Given the description of an element on the screen output the (x, y) to click on. 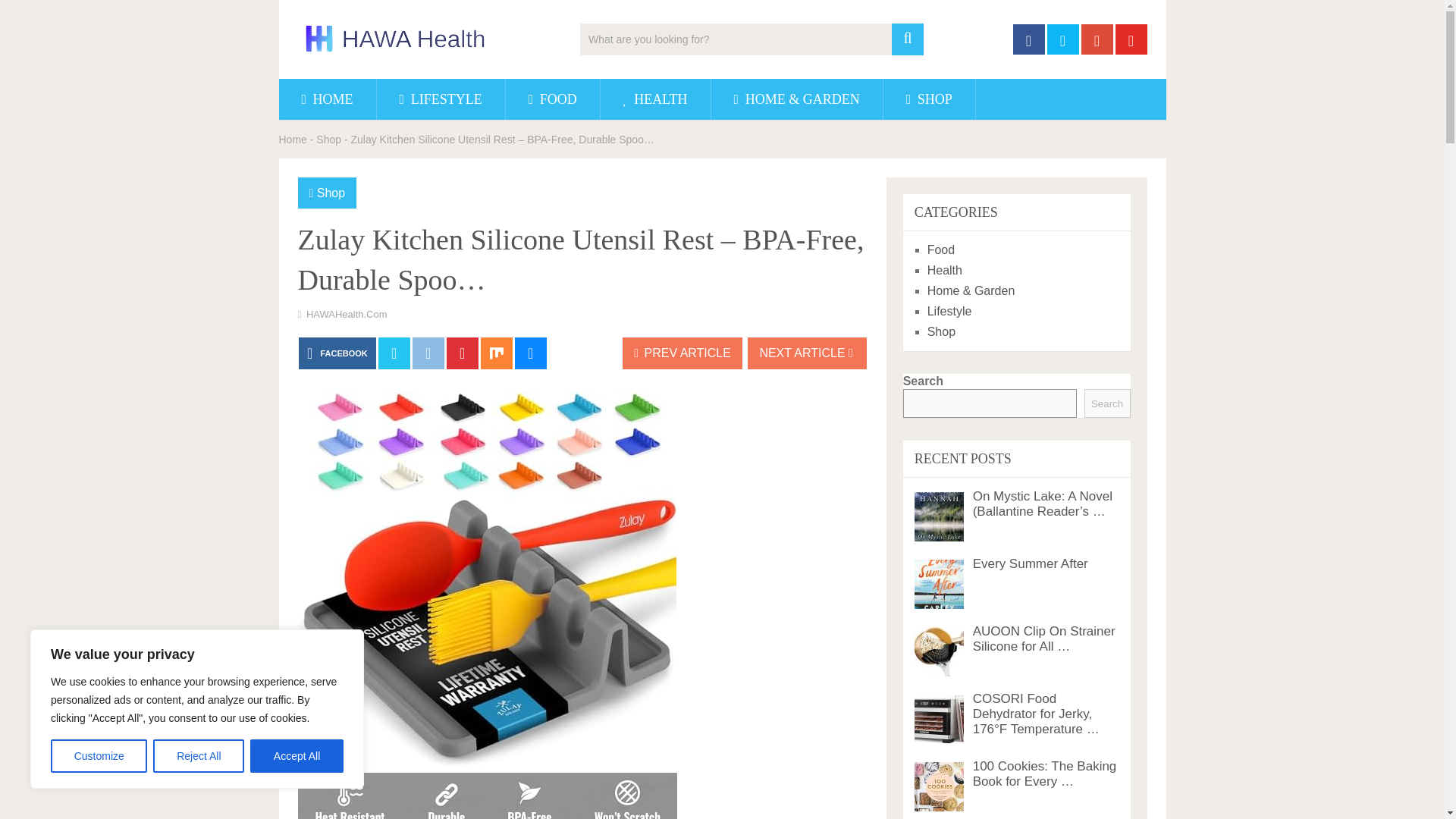
NEXT ARTICLE (807, 353)
Posts by HAWAHealth.com (346, 314)
PREV ARTICLE (682, 353)
View all posts in Shop (331, 192)
FACEBOOK (336, 353)
Reject All (198, 756)
FOOD (552, 98)
HOME (327, 98)
Shop (331, 192)
SHOP (929, 98)
